Given the description of an element on the screen output the (x, y) to click on. 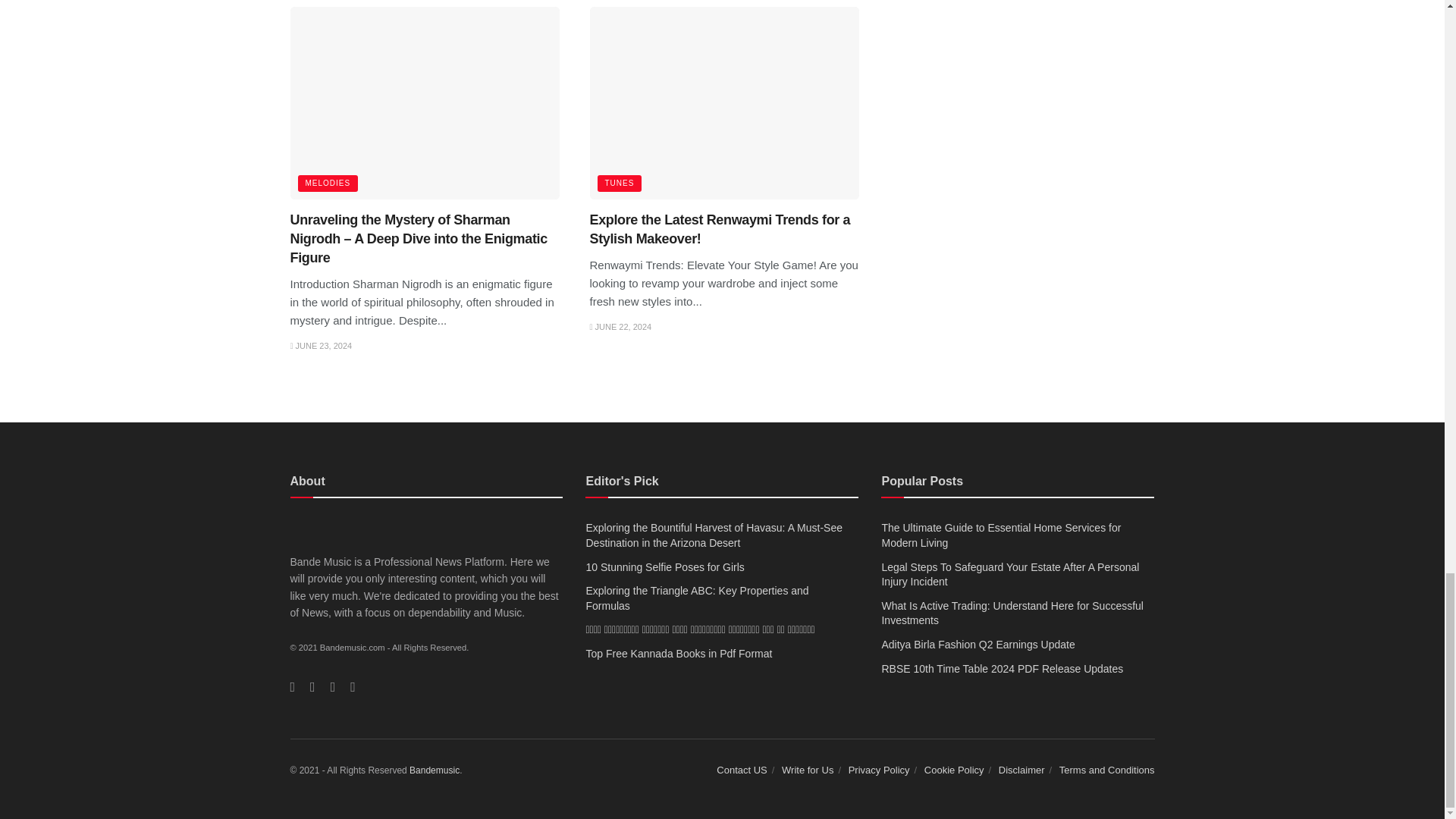
bandemusic (434, 769)
